Given the description of an element on the screen output the (x, y) to click on. 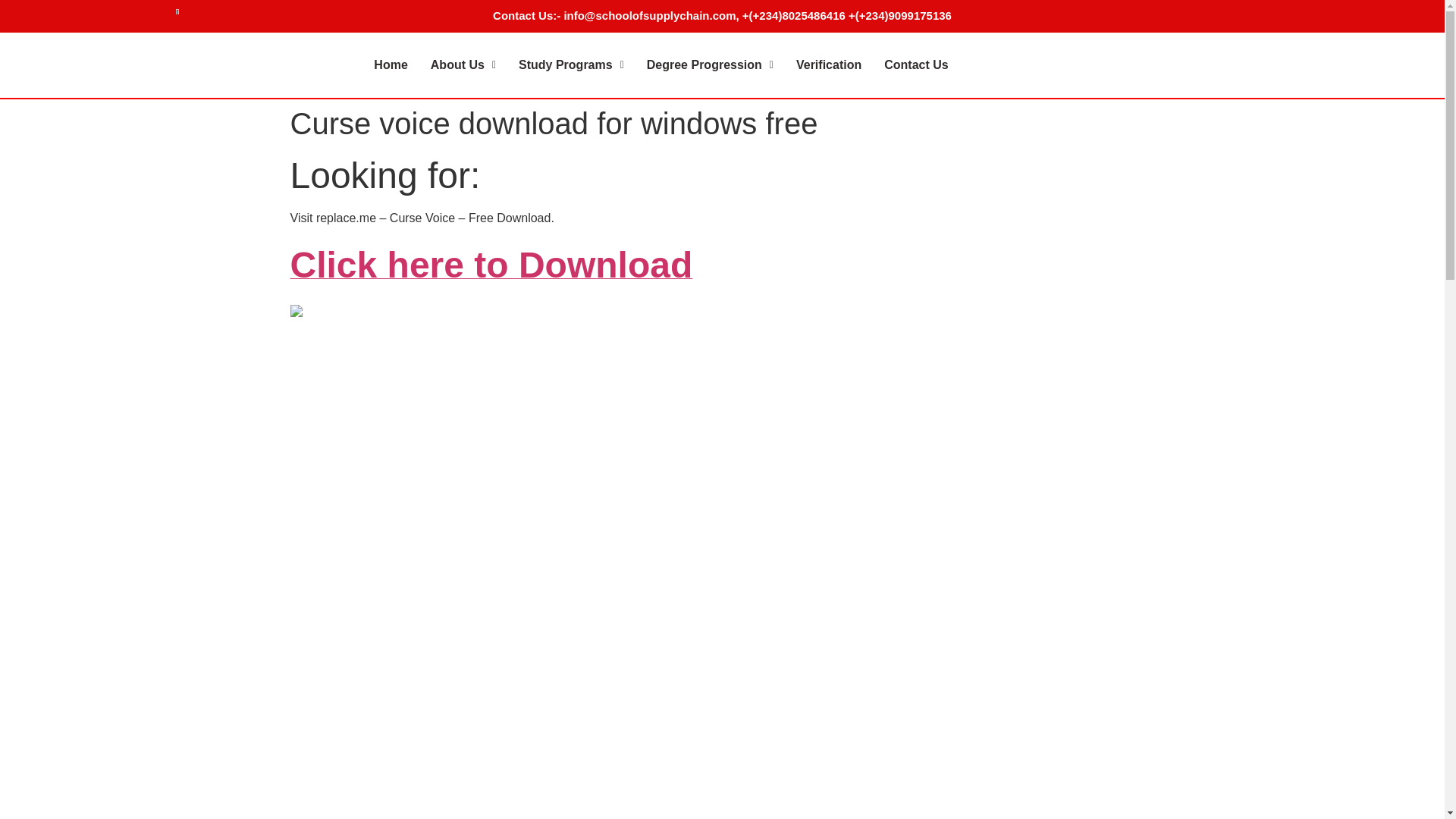
Degree Progression (709, 63)
About Us (462, 63)
Home (390, 63)
Verification (828, 63)
Click here to Download (491, 273)
Contact Us (915, 63)
Study Programs (570, 63)
